Given the description of an element on the screen output the (x, y) to click on. 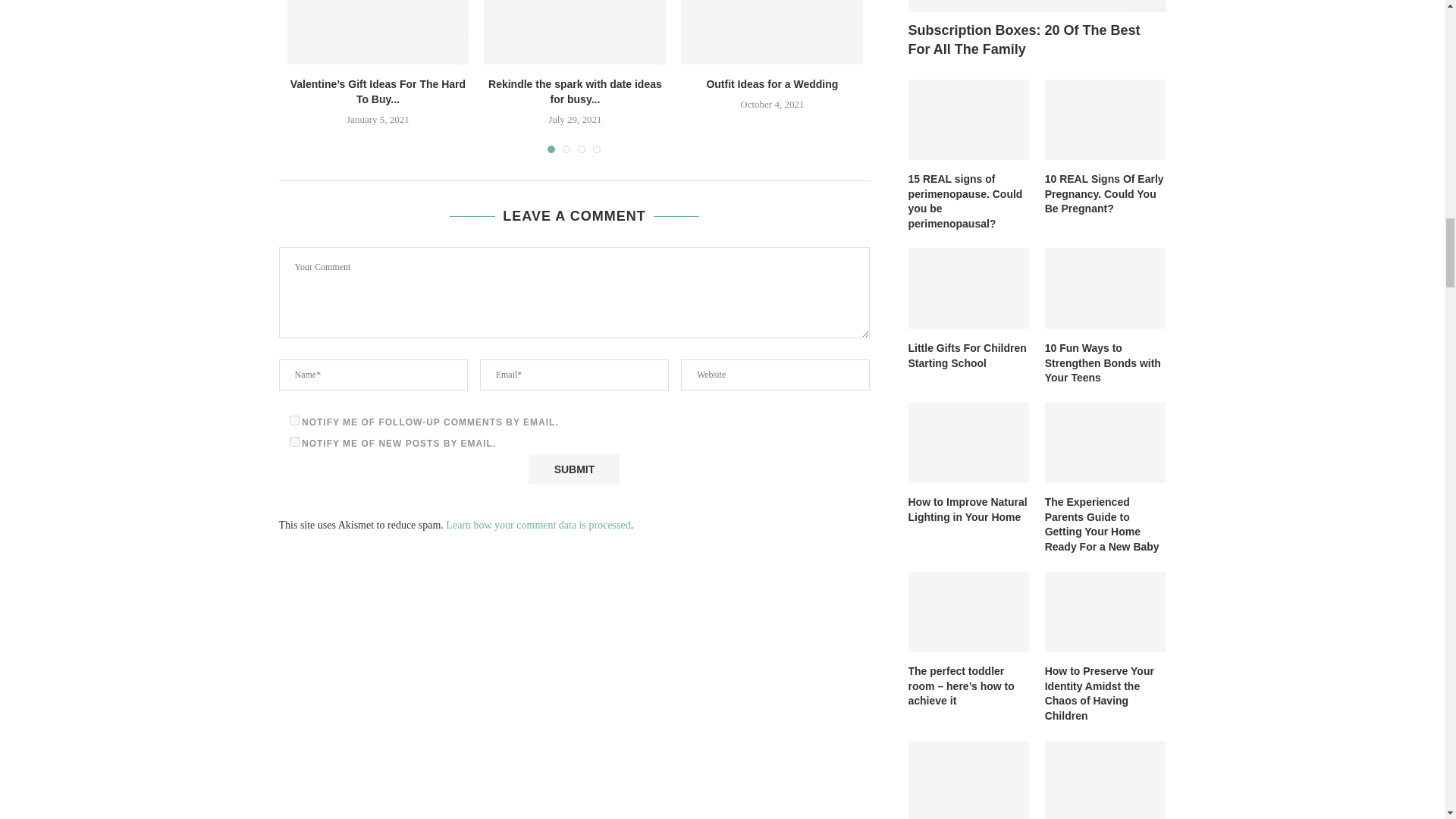
subscribe (294, 420)
Submit (574, 469)
subscribe (294, 441)
